Given the description of an element on the screen output the (x, y) to click on. 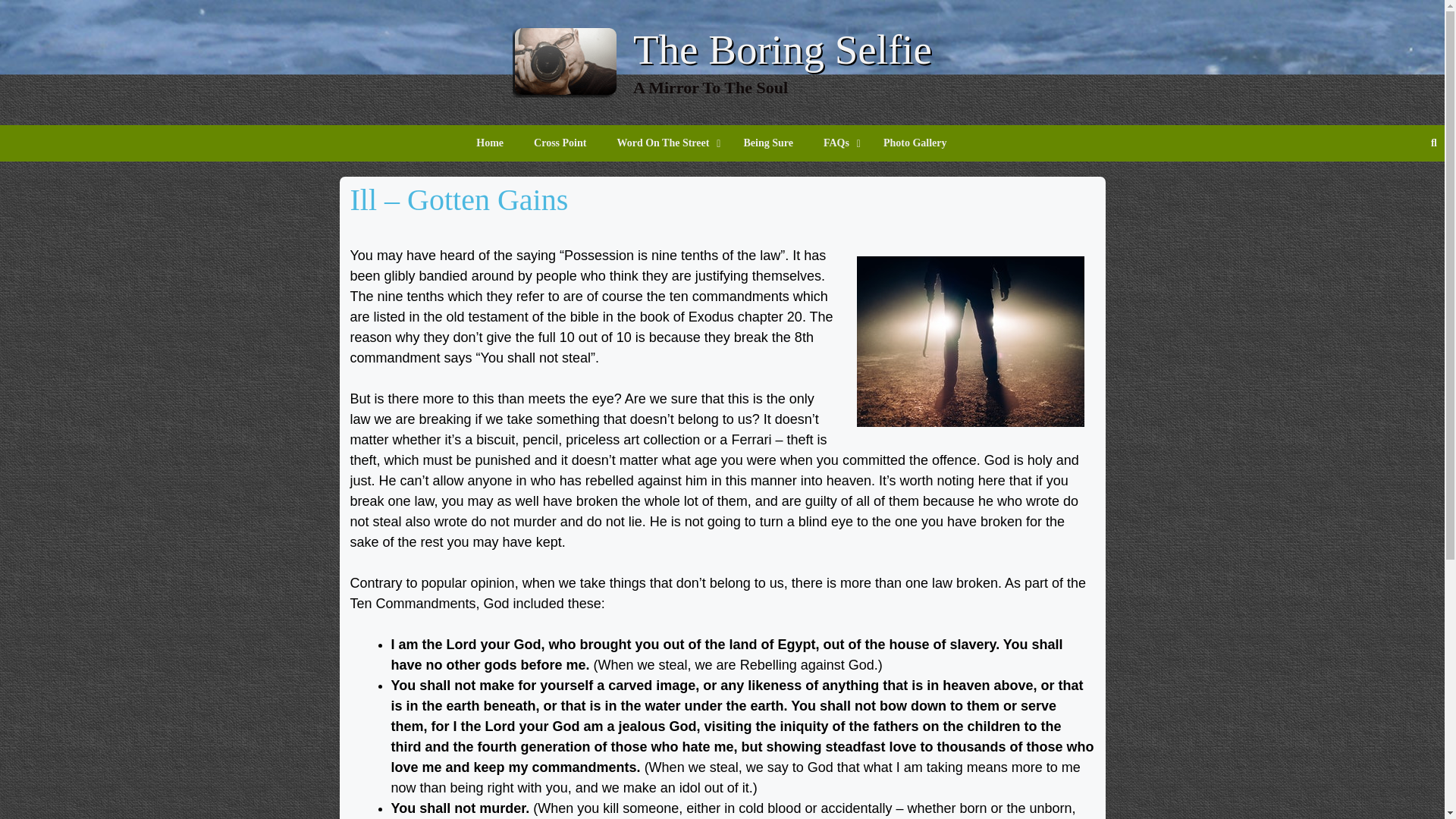
Being Sure (768, 143)
FAQs (837, 143)
Word On The Street (664, 143)
Photo Gallery (914, 143)
The Boring Selfie (782, 49)
Cross Point (559, 143)
Home (489, 143)
